Given the description of an element on the screen output the (x, y) to click on. 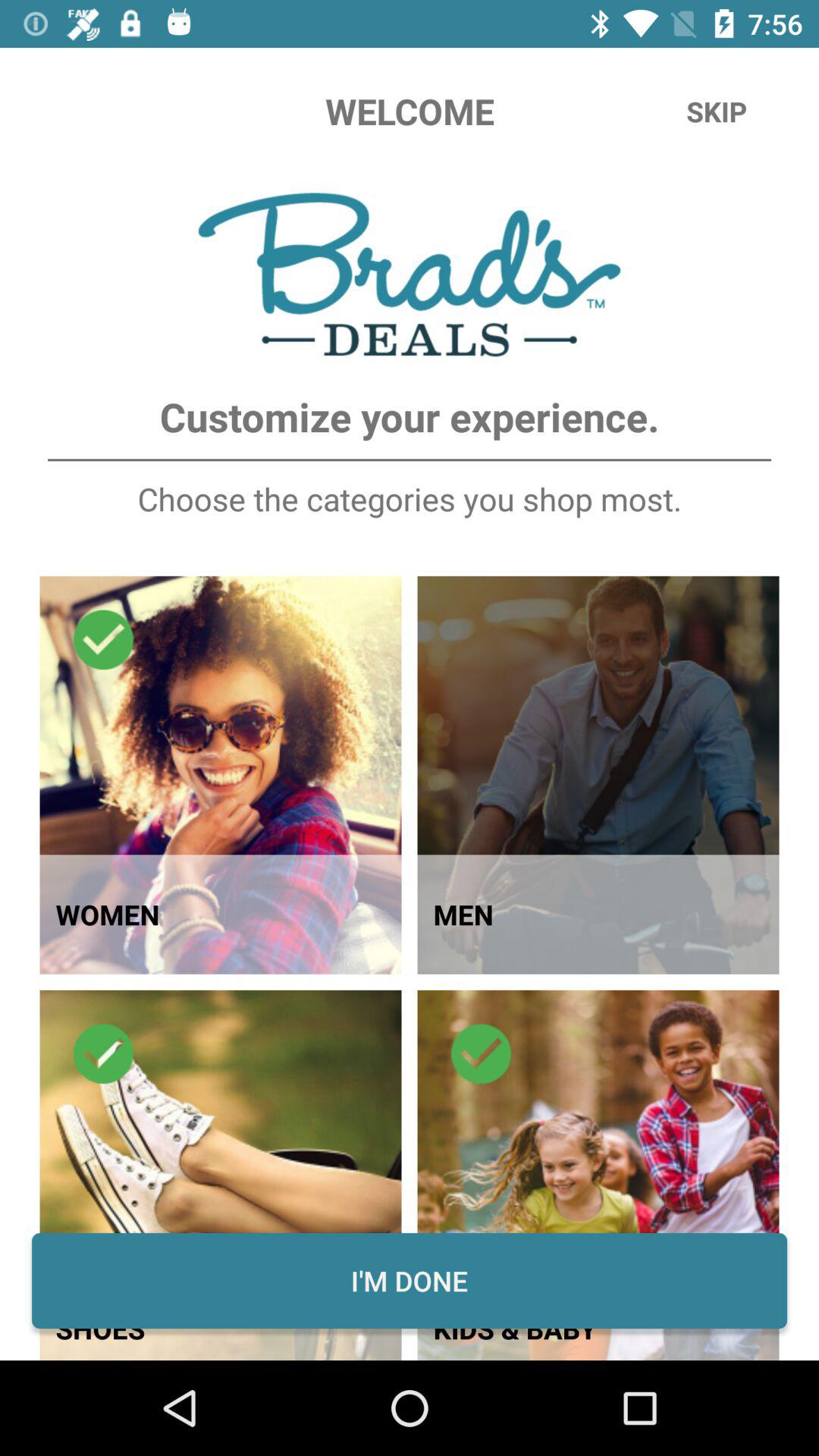
go to tick in second row first option (103, 1054)
select the check box on the first image (103, 639)
click on the image which has the text men (598, 775)
select the logo which is below the welcome (409, 274)
select the image which is right to the women (598, 775)
select the icon at the top of second image in second row (481, 1054)
